Given the description of an element on the screen output the (x, y) to click on. 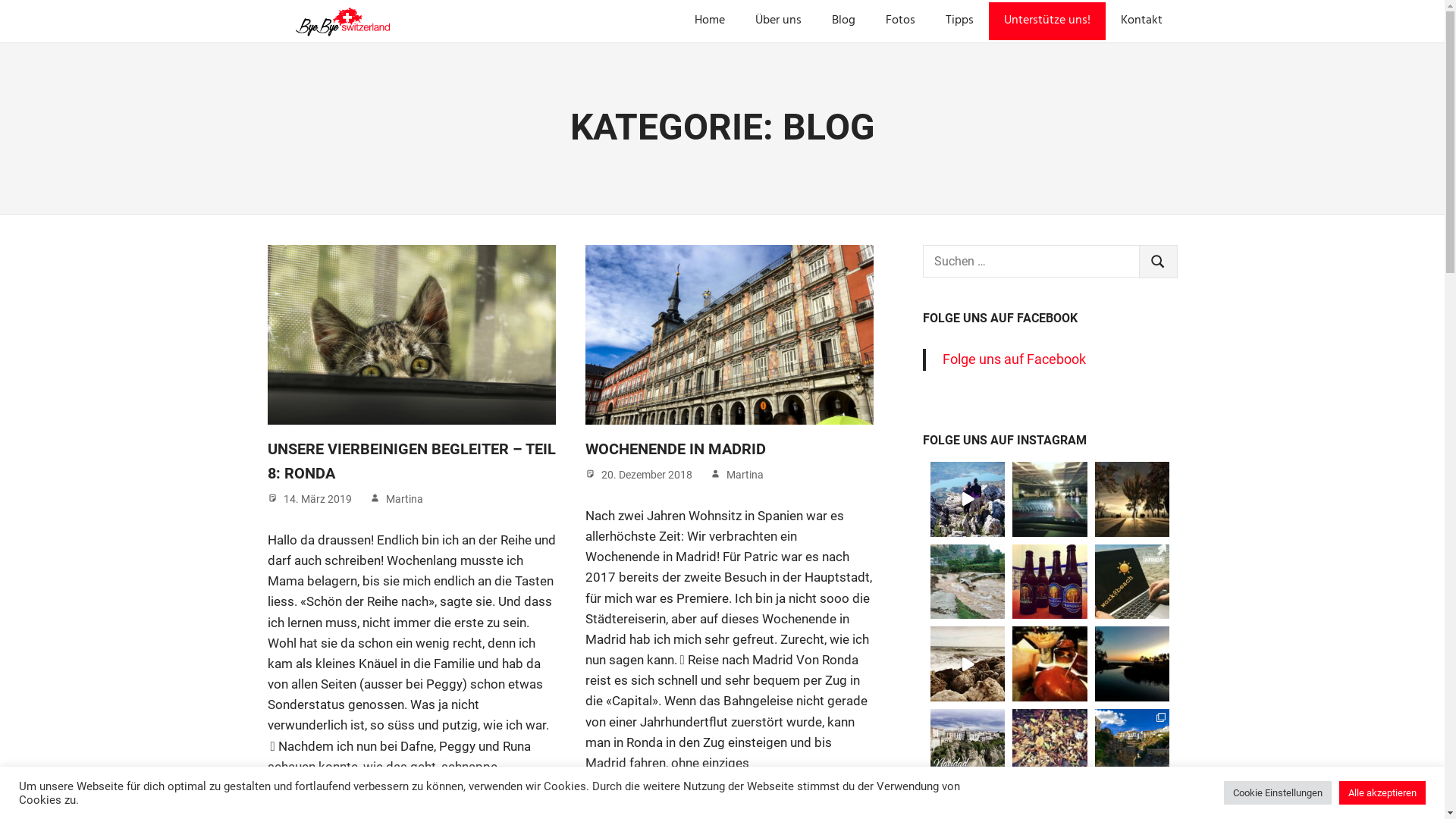
Fotos Element type: text (900, 21)
SUCHEN Element type: text (1158, 261)
Folge uns auf Facebook Element type: text (1013, 359)
Suchen nach: Element type: hover (1030, 260)
WOCHENENDE IN MADRID Element type: text (675, 448)
20. Dezember 2018 Element type: text (645, 474)
Cookie Einstellungen Element type: text (1277, 792)
FOLGE UNS AUF FACEBOOK Element type: text (999, 317)
Kontakt Element type: text (1141, 21)
Martina Element type: text (403, 498)
Blog Element type: text (842, 21)
Martina Element type: text (744, 474)
Alle akzeptieren Element type: text (1382, 792)
Home Element type: text (709, 21)
Tipps Element type: text (958, 21)
